Given the description of an element on the screen output the (x, y) to click on. 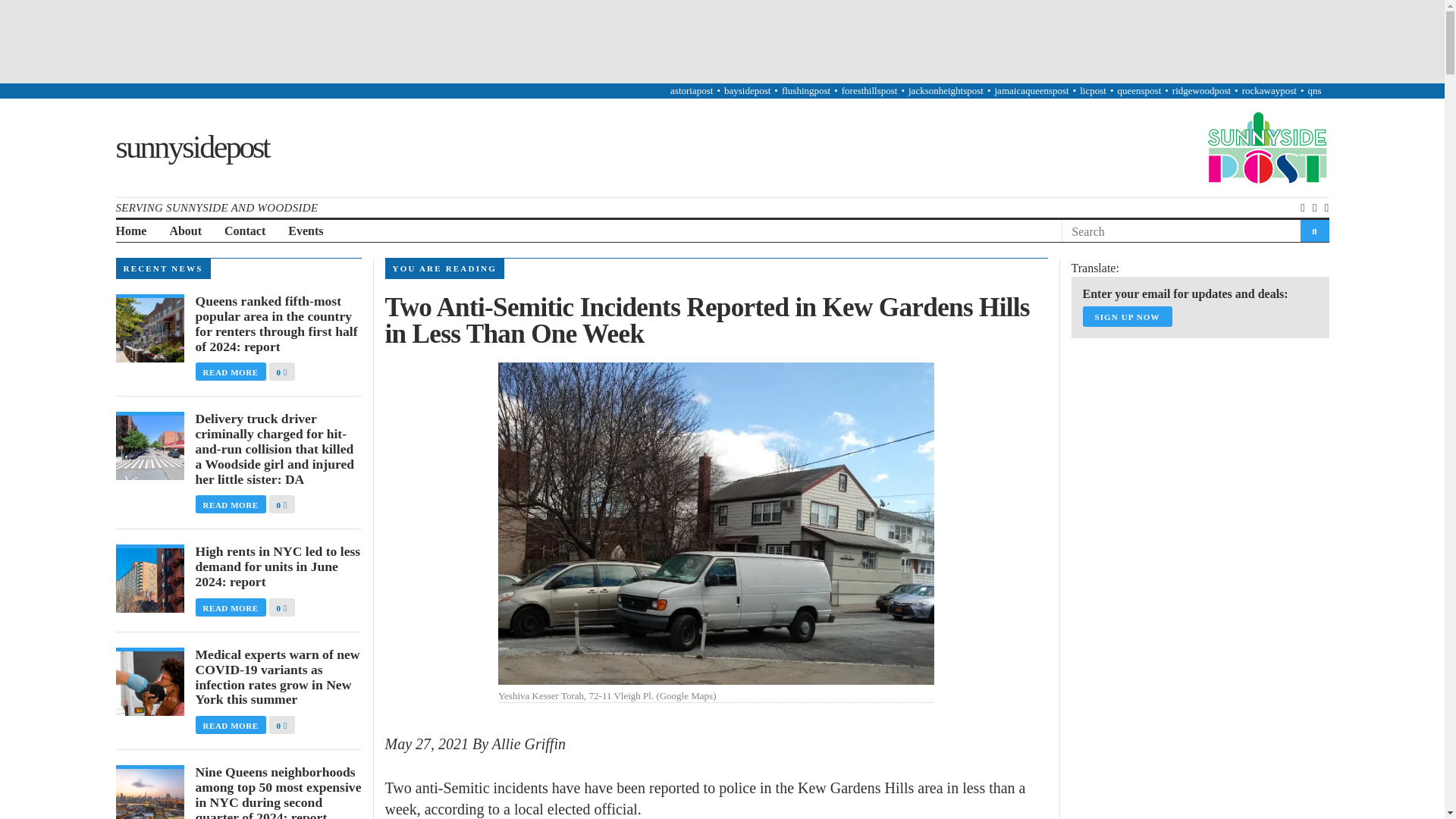
flushingpost (805, 90)
ridgewoodpost (1201, 90)
sunnysidepost (191, 146)
Contact (244, 231)
rockawaypost (1269, 90)
foresthillspost (869, 90)
qns (1313, 90)
astoriapost (691, 90)
baysidepost (746, 90)
jacksonheightspost (946, 90)
Home (131, 231)
jamaicaqueenspost (1031, 90)
3rd party ad content (721, 41)
About (185, 231)
queenspost (1138, 90)
